Given the description of an element on the screen output the (x, y) to click on. 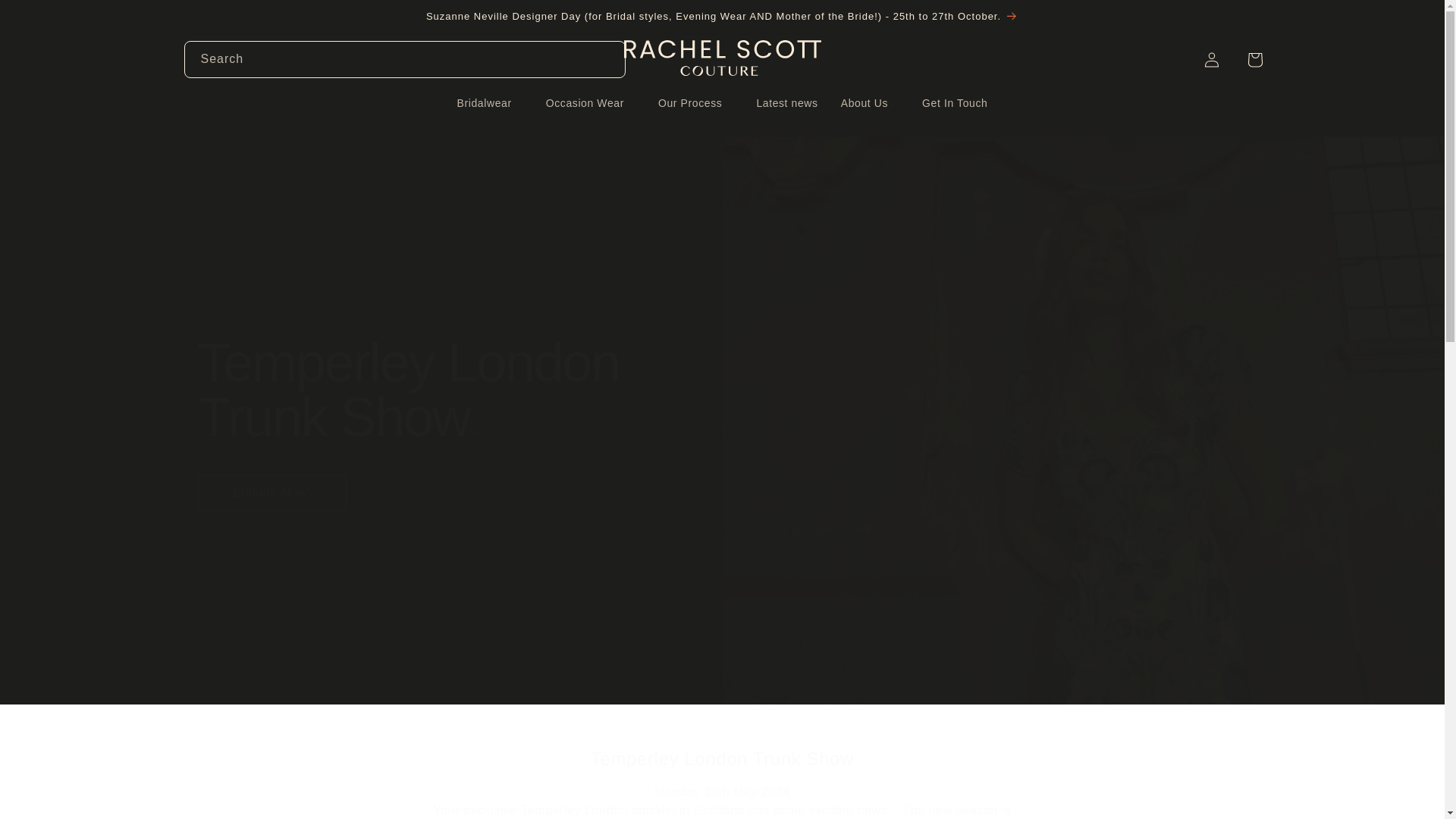
Skip to content (45, 17)
Temperley London Trunk Show (721, 758)
